Given the description of an element on the screen output the (x, y) to click on. 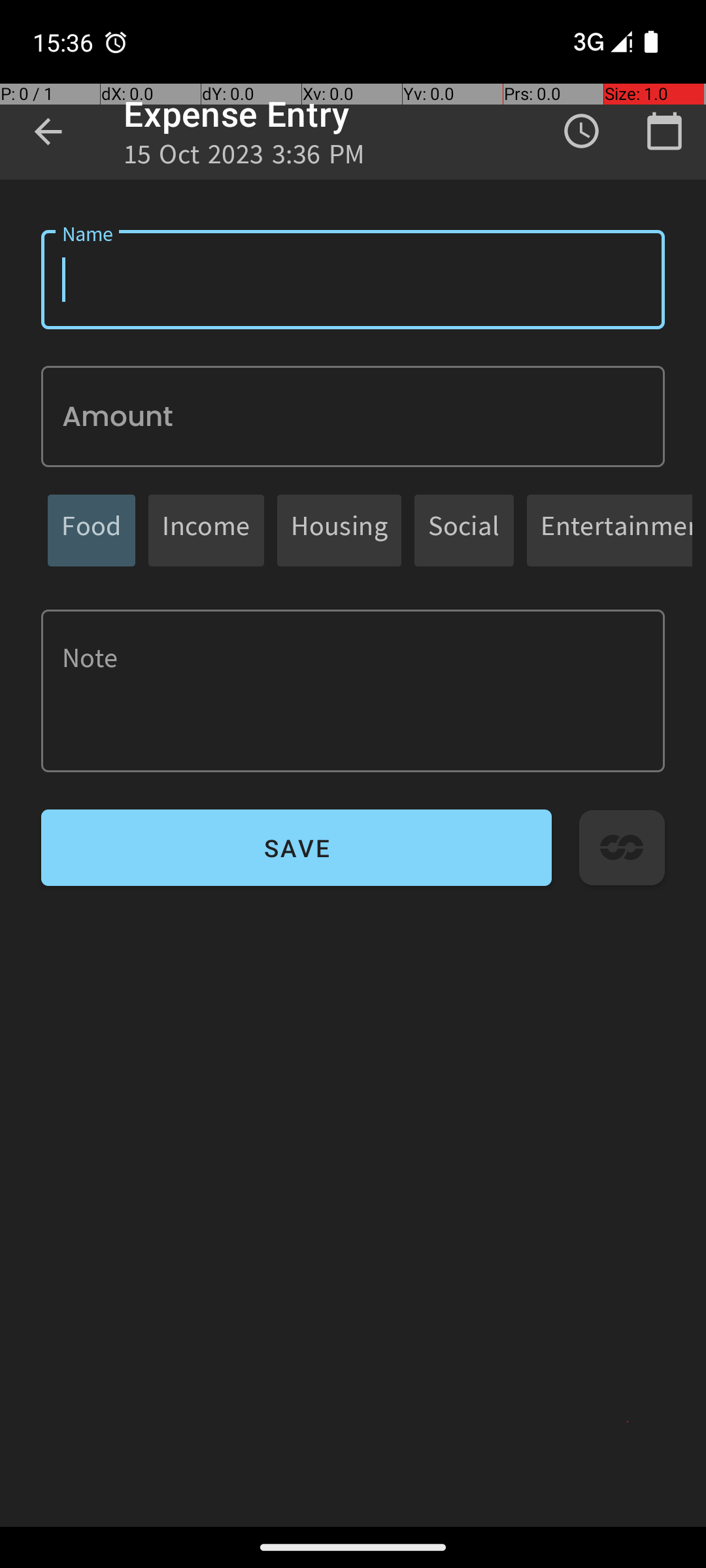
15 Oct 2023 3:36 PM Element type: android.widget.TextView (244, 157)
